Given the description of an element on the screen output the (x, y) to click on. 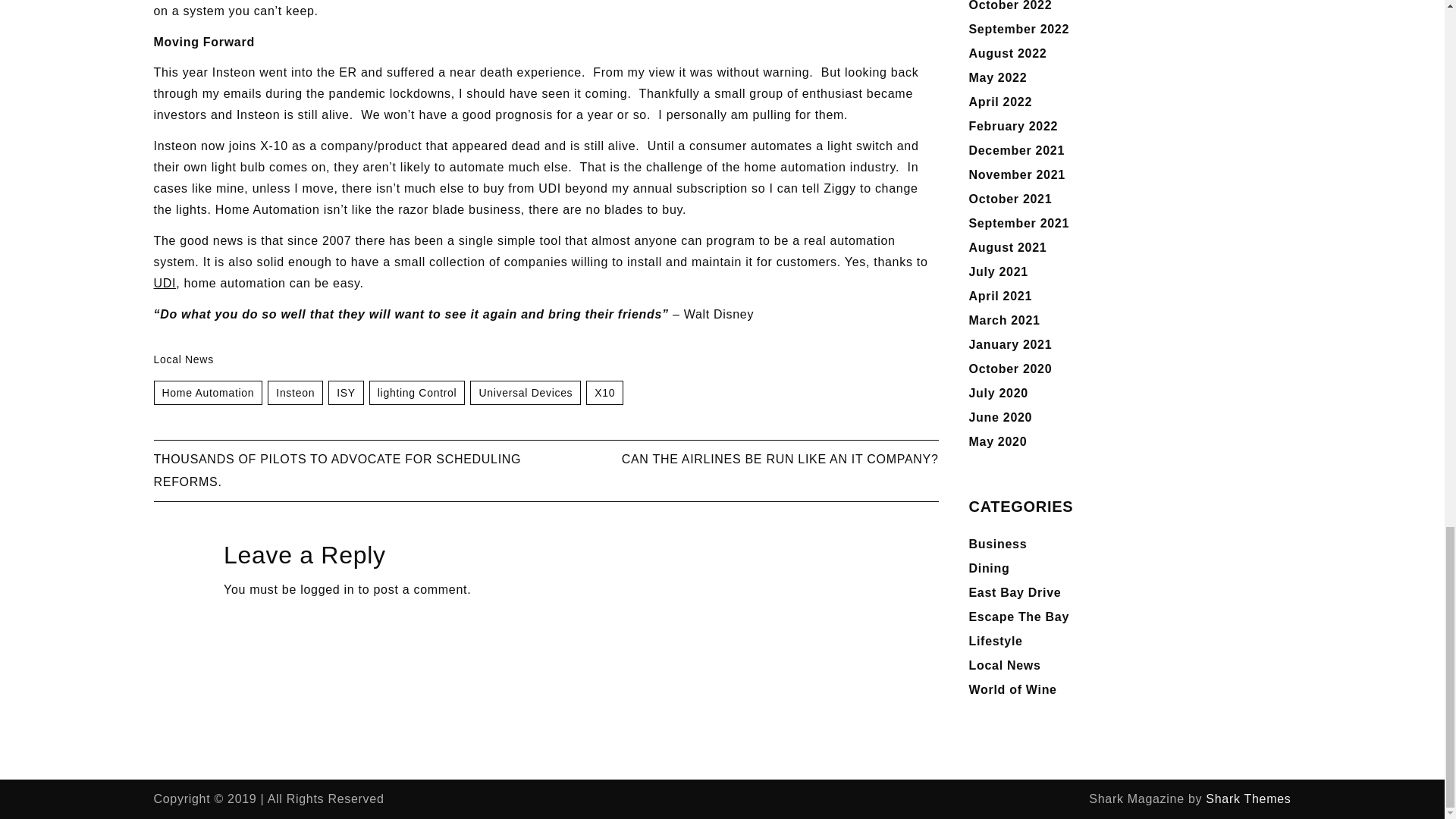
CAN THE AIRLINES BE RUN LIKE AN IT COMPANY? (780, 459)
Universal Devices (525, 392)
UDI (164, 282)
Local News (182, 358)
Insteon (295, 392)
ISY (346, 392)
X10 (604, 392)
THOUSANDS OF PILOTS TO ADVOCATE FOR SCHEDULING REFORMS. (336, 470)
Home Automation (207, 392)
logged in (326, 589)
